Given the description of an element on the screen output the (x, y) to click on. 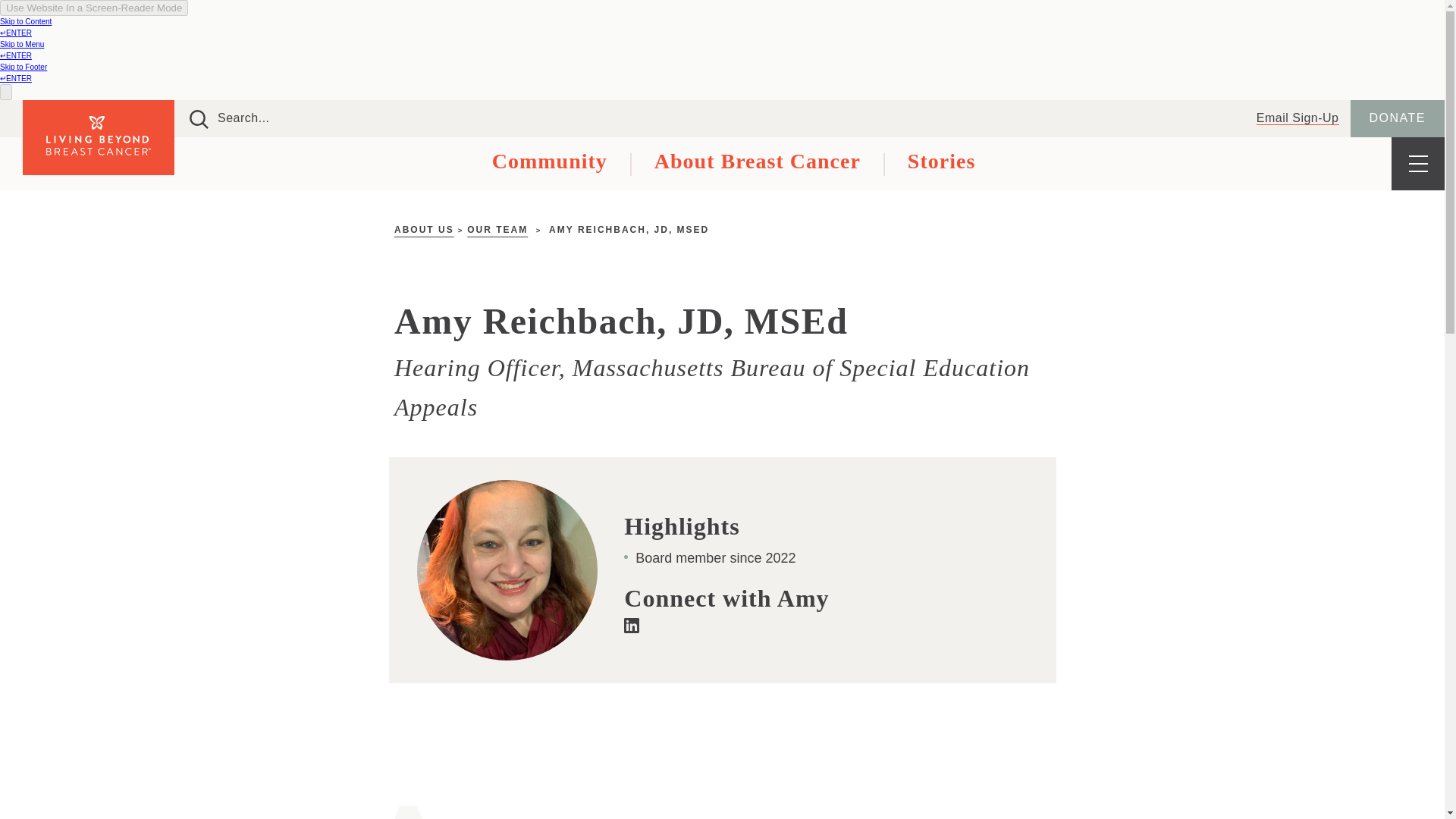
Stories (917, 163)
Email Sign-Up (1297, 117)
About Breast Cancer (733, 163)
Community (537, 163)
